Given the description of an element on the screen output the (x, y) to click on. 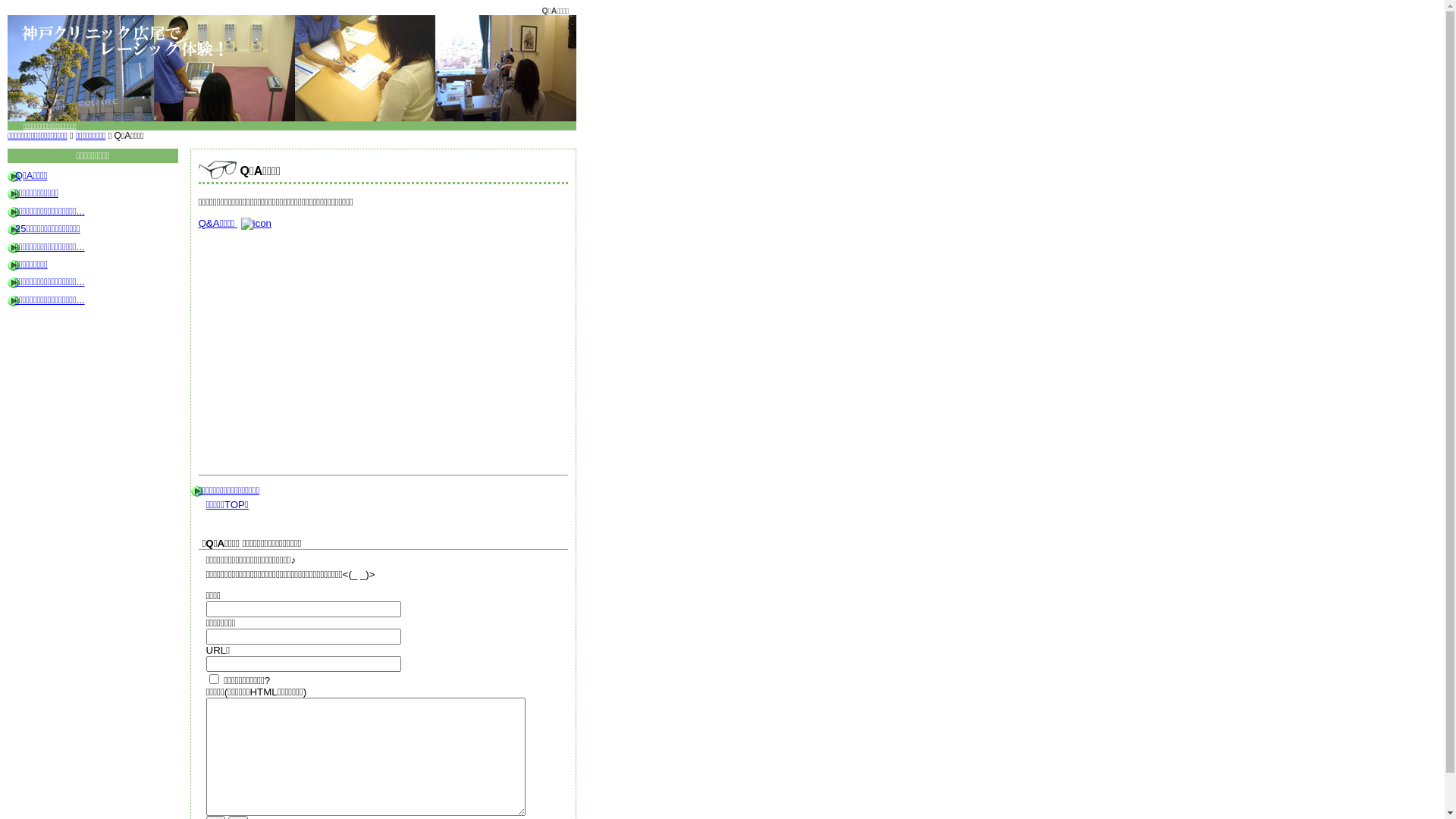
1 Element type: text (214, 679)
